Given the description of an element on the screen output the (x, y) to click on. 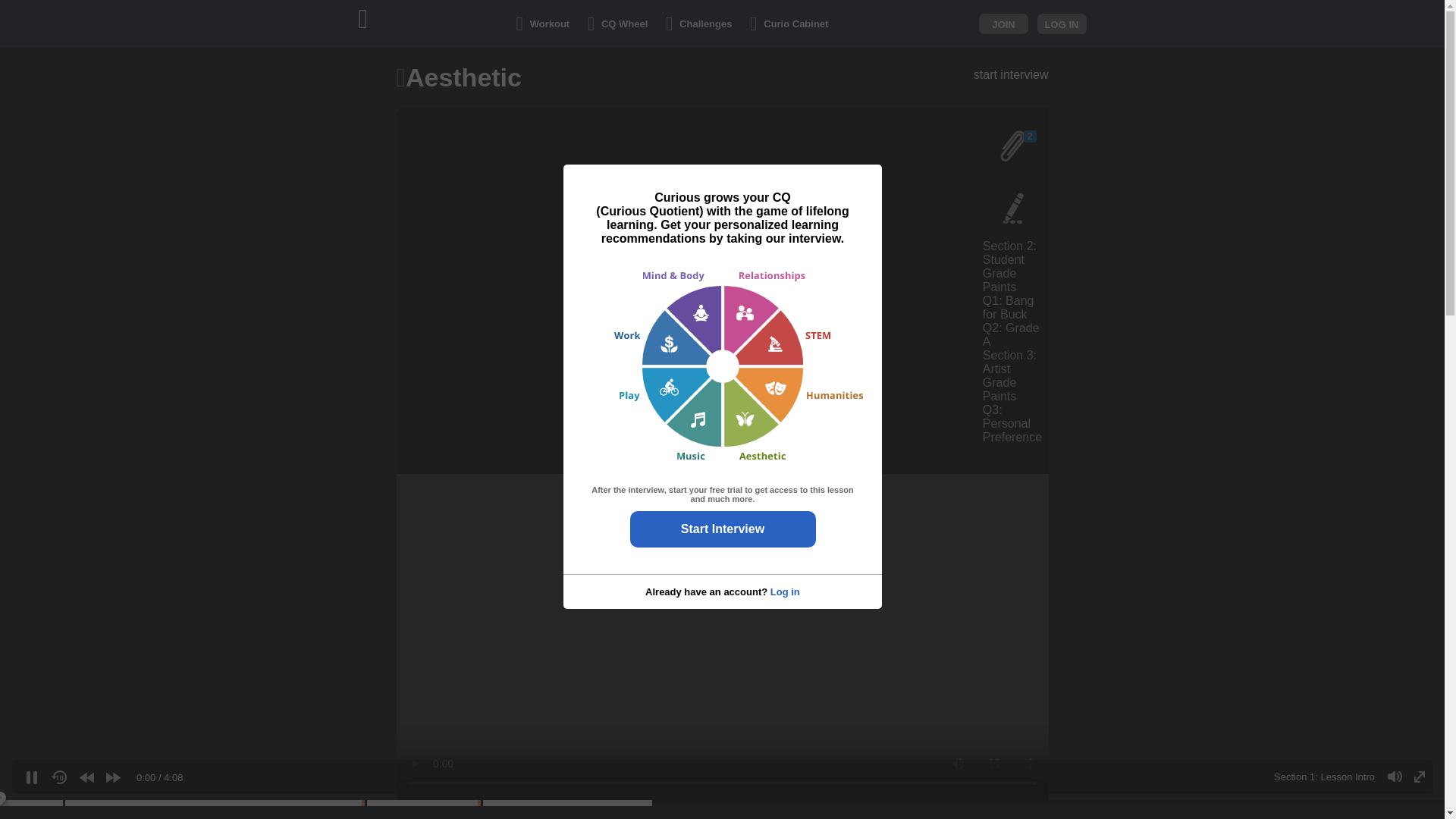
Student Grade Paints (215, 802)
Challenges (698, 22)
Log in (784, 591)
Curio Cabinet (788, 22)
Lesson Intro (31, 802)
Start Interview (721, 529)
Artist Grade Paints (423, 802)
More Comparisons (567, 802)
LOG IN (1061, 23)
Workout (543, 22)
start interview (1011, 74)
JOIN (1002, 23)
CQ Wheel (617, 22)
